Given the description of an element on the screen output the (x, y) to click on. 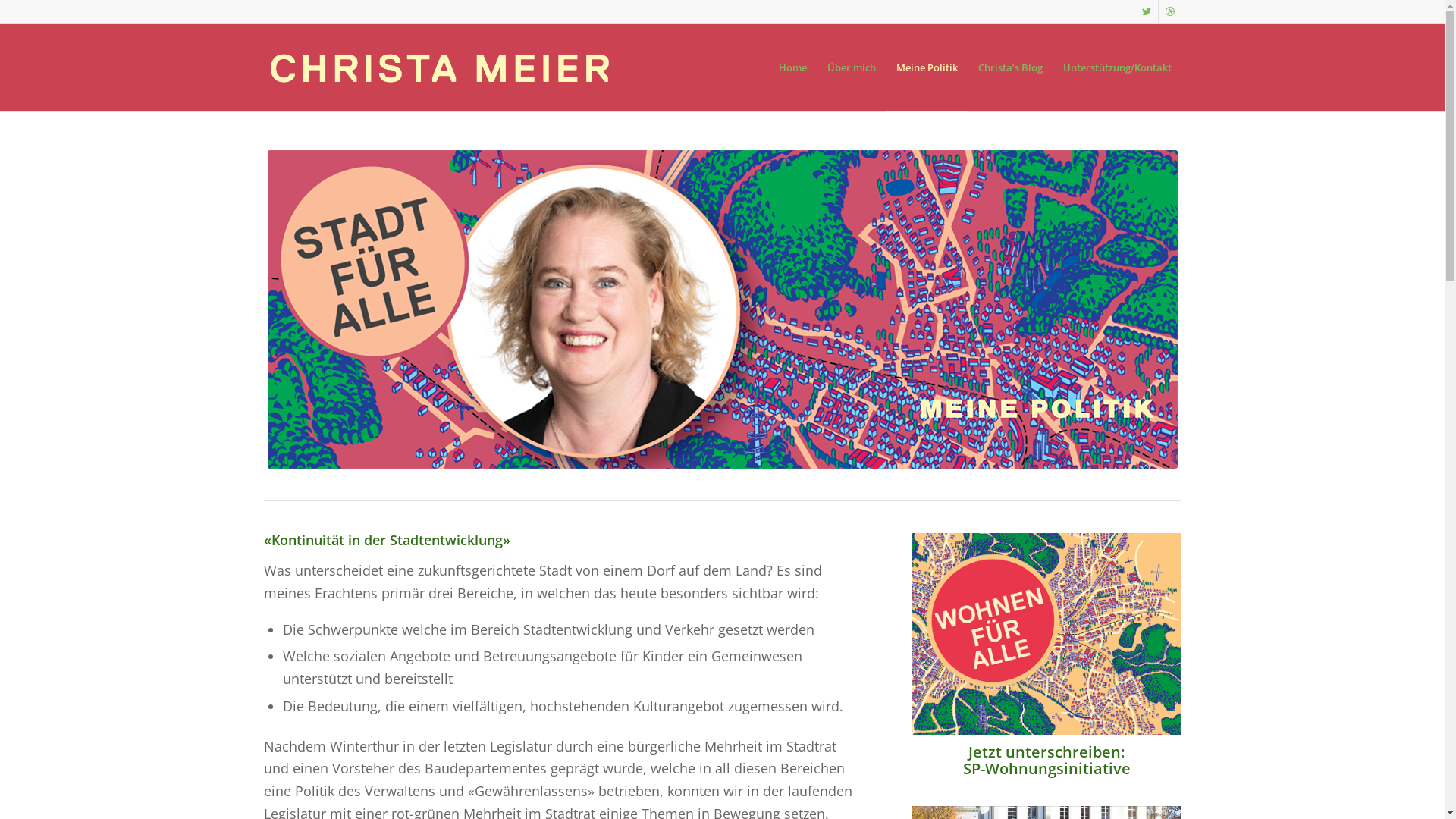
Christa SEitenkoepfe_politik Element type: hover (721, 309)
Dribbble Element type: hover (1169, 11)
Twitter Element type: hover (1146, 11)
Meine Politik Element type: text (926, 67)
Home Element type: text (792, 67)
Jetzt unterschreiben: Element type: text (1046, 751)
Schriftzug_Website_Meier_transp Element type: hover (439, 67)
